Given the description of an element on the screen output the (x, y) to click on. 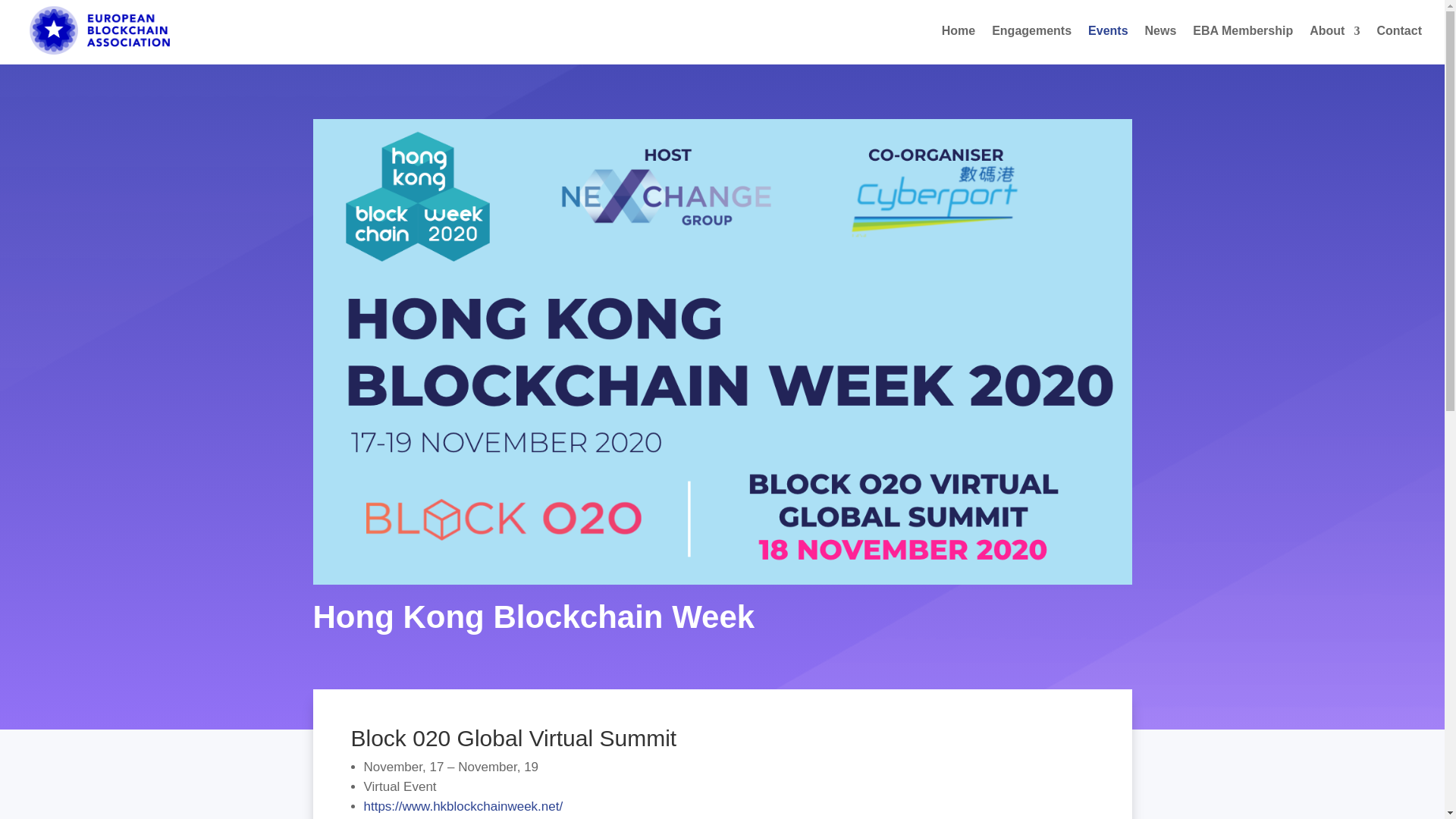
Events (1106, 45)
EBA Membership (1242, 45)
EBA-Logo-RGB-220px (99, 31)
About (1333, 45)
Contact (1398, 45)
Engagements (1031, 45)
